Given the description of an element on the screen output the (x, y) to click on. 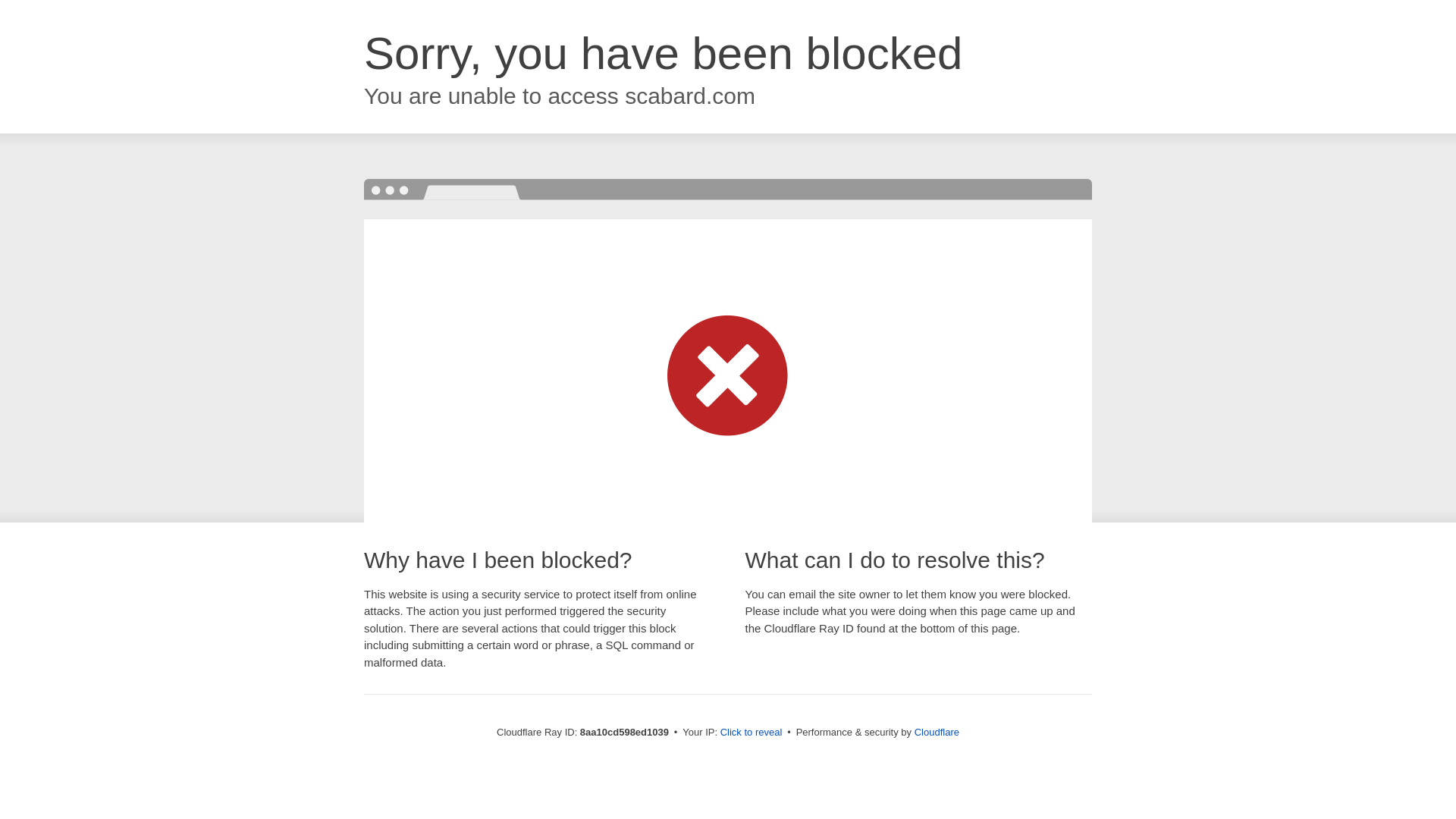
Click to reveal (751, 732)
Cloudflare (936, 731)
